Given the description of an element on the screen output the (x, y) to click on. 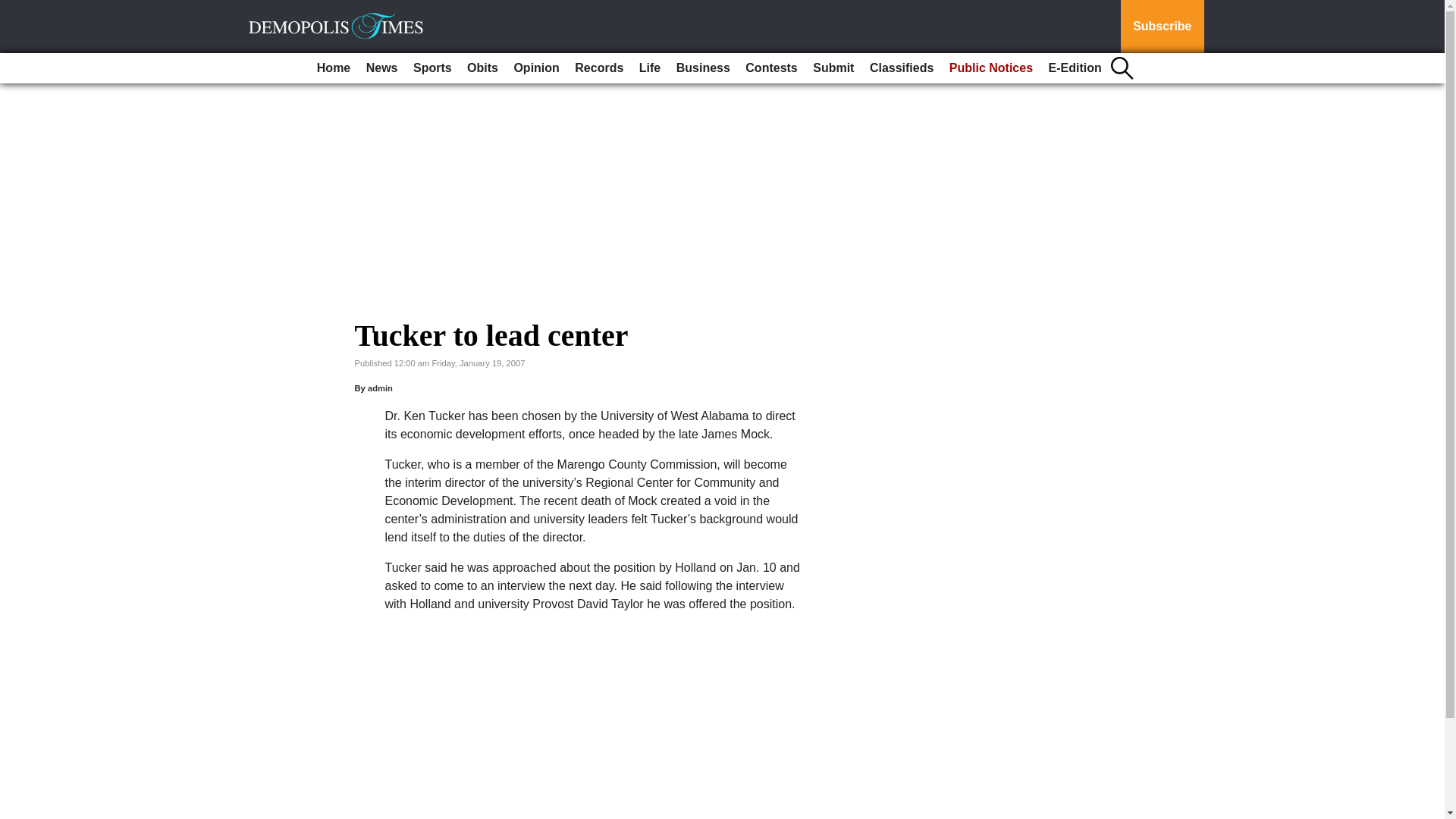
Records (598, 68)
Public Notices (991, 68)
admin (380, 388)
Opinion (535, 68)
E-Edition (1075, 68)
Sports (432, 68)
Submit (833, 68)
Obits (482, 68)
Classifieds (901, 68)
Subscribe (1162, 26)
